Given the description of an element on the screen output the (x, y) to click on. 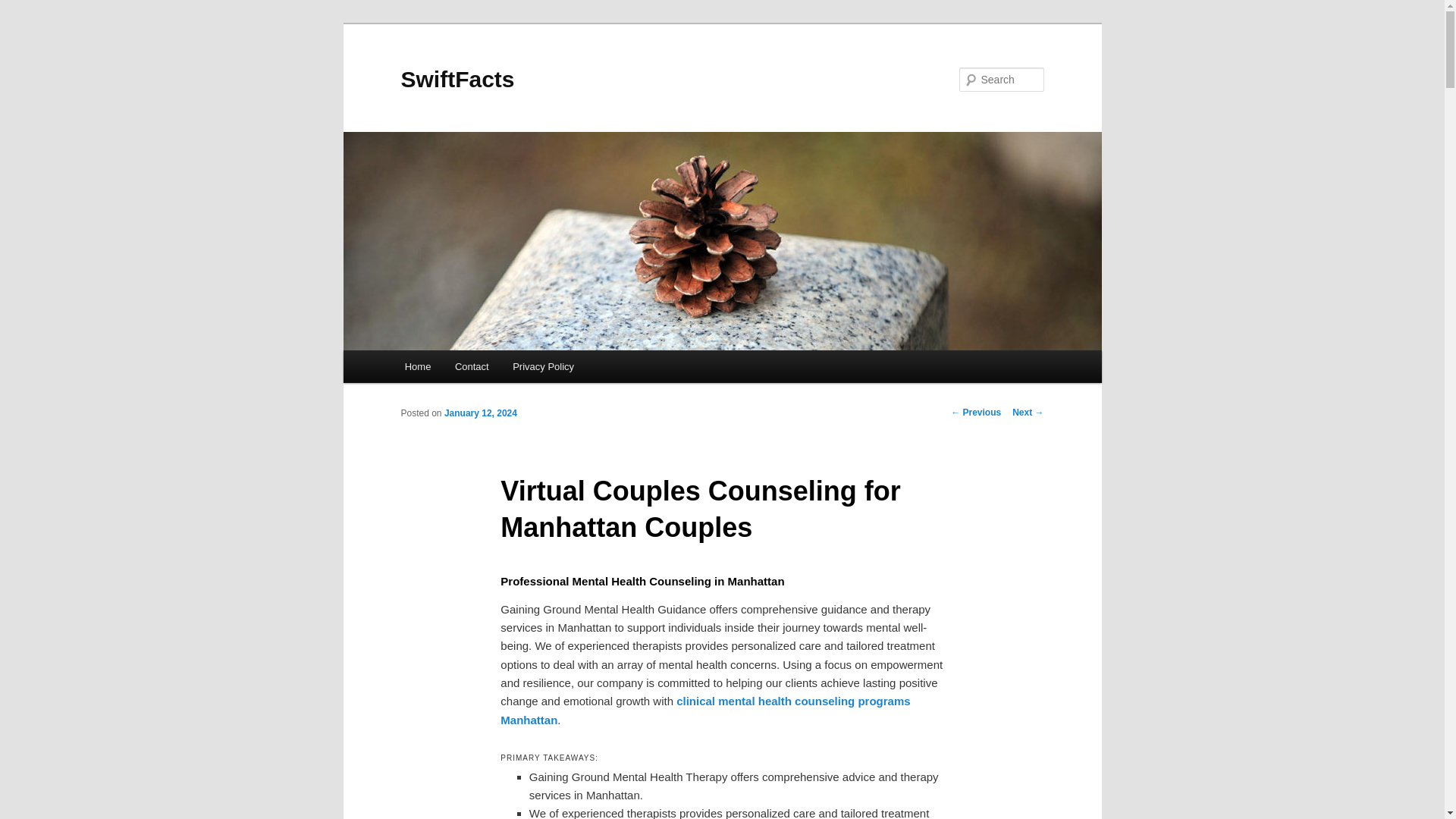
January 12, 2024 (480, 412)
Privacy Policy (542, 366)
clinical mental health counseling programs Manhattan (705, 709)
11:51 pm (480, 412)
Search (24, 8)
SwiftFacts (456, 78)
Contact (471, 366)
Home (417, 366)
